Given the description of an element on the screen output the (x, y) to click on. 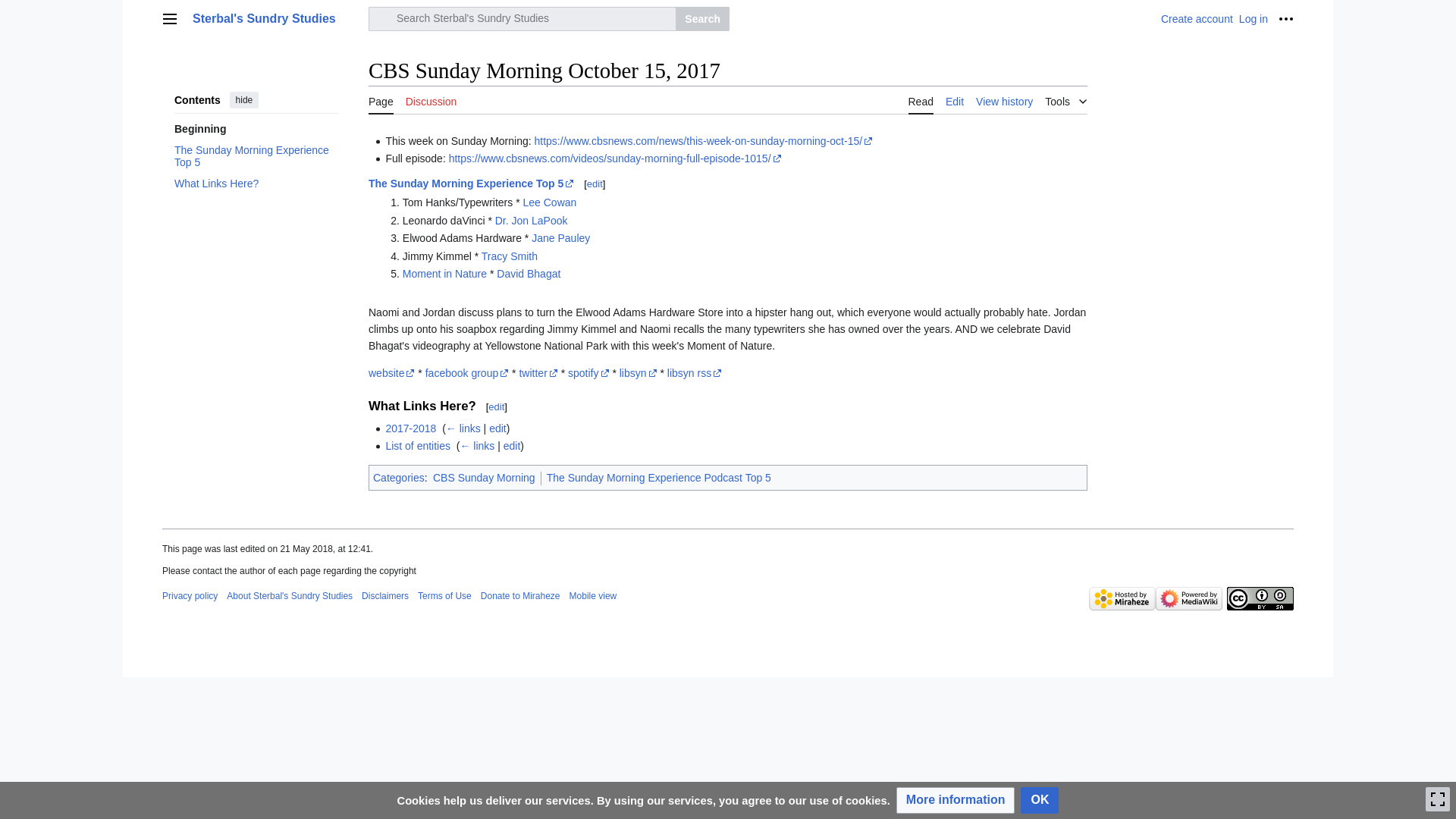
Discussion (431, 100)
Create account (1196, 19)
What Links Here? (255, 183)
Page (380, 100)
View history (1003, 100)
Beginning (255, 128)
Log in (1253, 19)
Read (920, 100)
More options (1286, 18)
Sterbal's Sundry Studies (276, 18)
hide (244, 99)
The Sunday Morning Experience Top 5 (255, 155)
Search (702, 18)
